Given the description of an element on the screen output the (x, y) to click on. 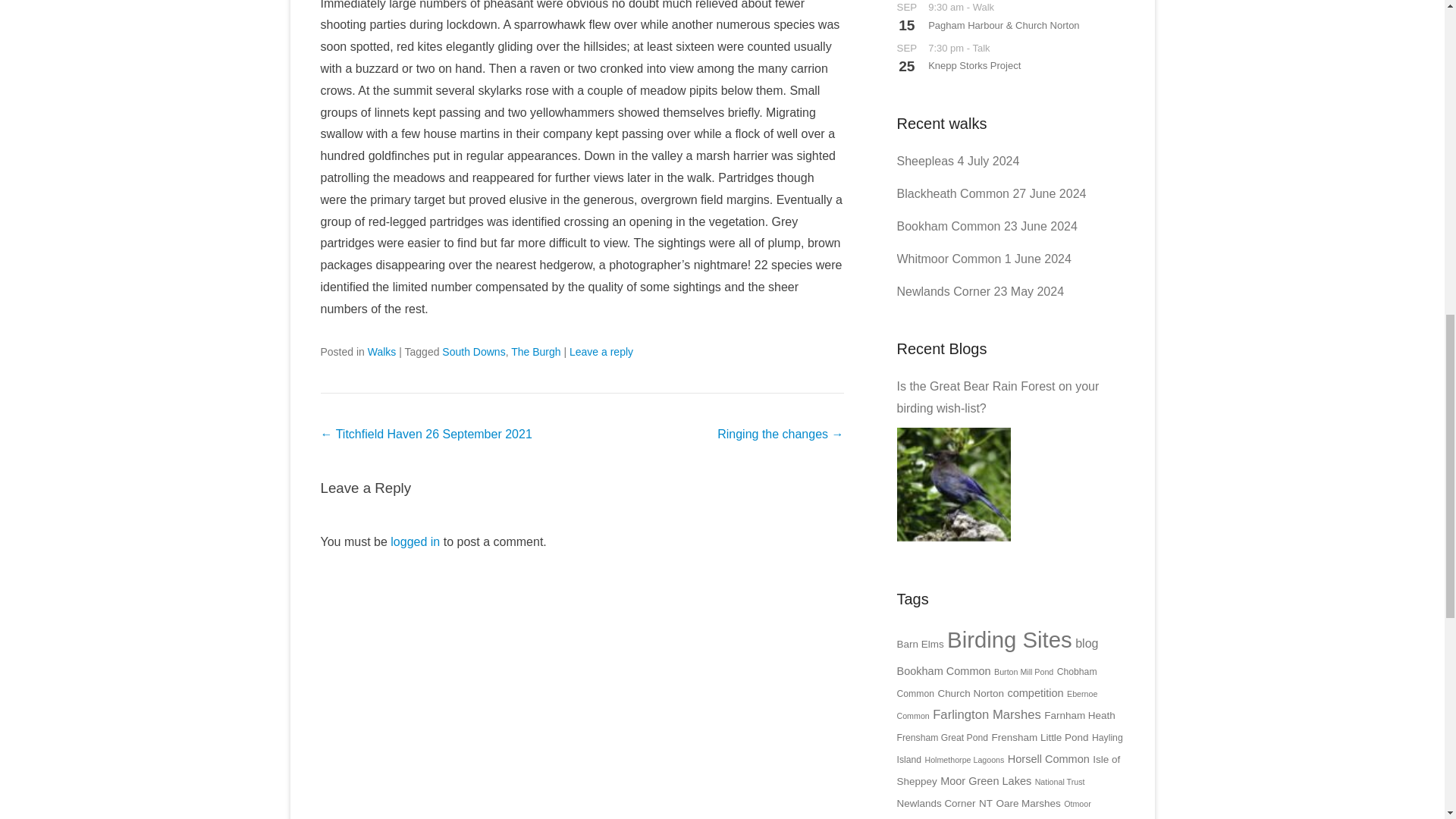
South Downs (473, 351)
Walks (382, 351)
The Burgh (535, 351)
Is the Great Bear Rain Forest on your birding wish-list? (953, 484)
